Given the description of an element on the screen output the (x, y) to click on. 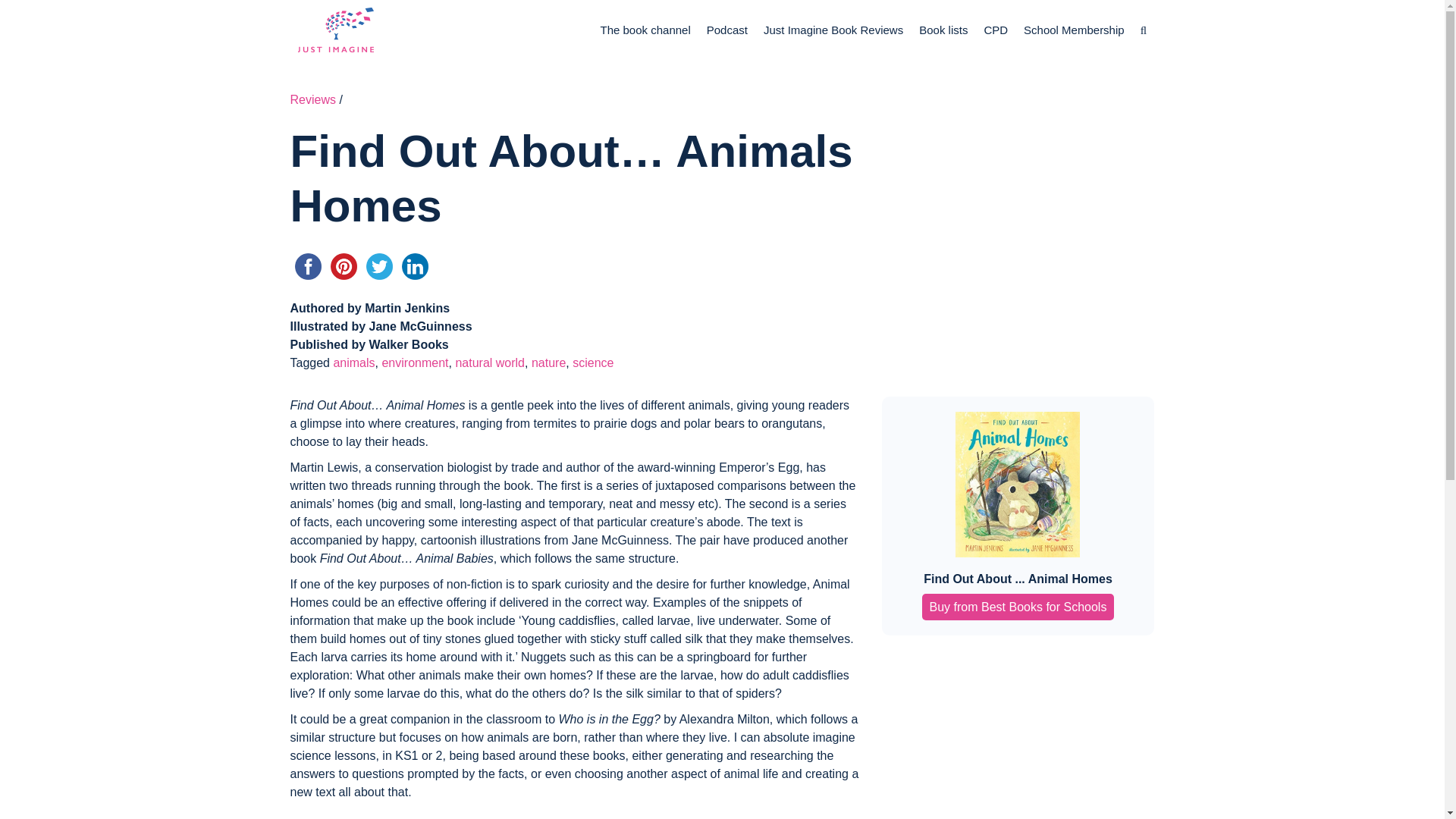
twitter (378, 266)
linkedin (414, 266)
animals (353, 362)
Reviews (311, 99)
Just Imagine Book Reviews (833, 29)
facebook (306, 266)
CPD (995, 29)
Podcast (726, 29)
School Membership (1074, 29)
nature (548, 362)
pinterest (343, 266)
environment (414, 362)
Book lists (943, 29)
Buy from Best Books for Schools (1018, 606)
The book channel (645, 29)
